Given the description of an element on the screen output the (x, y) to click on. 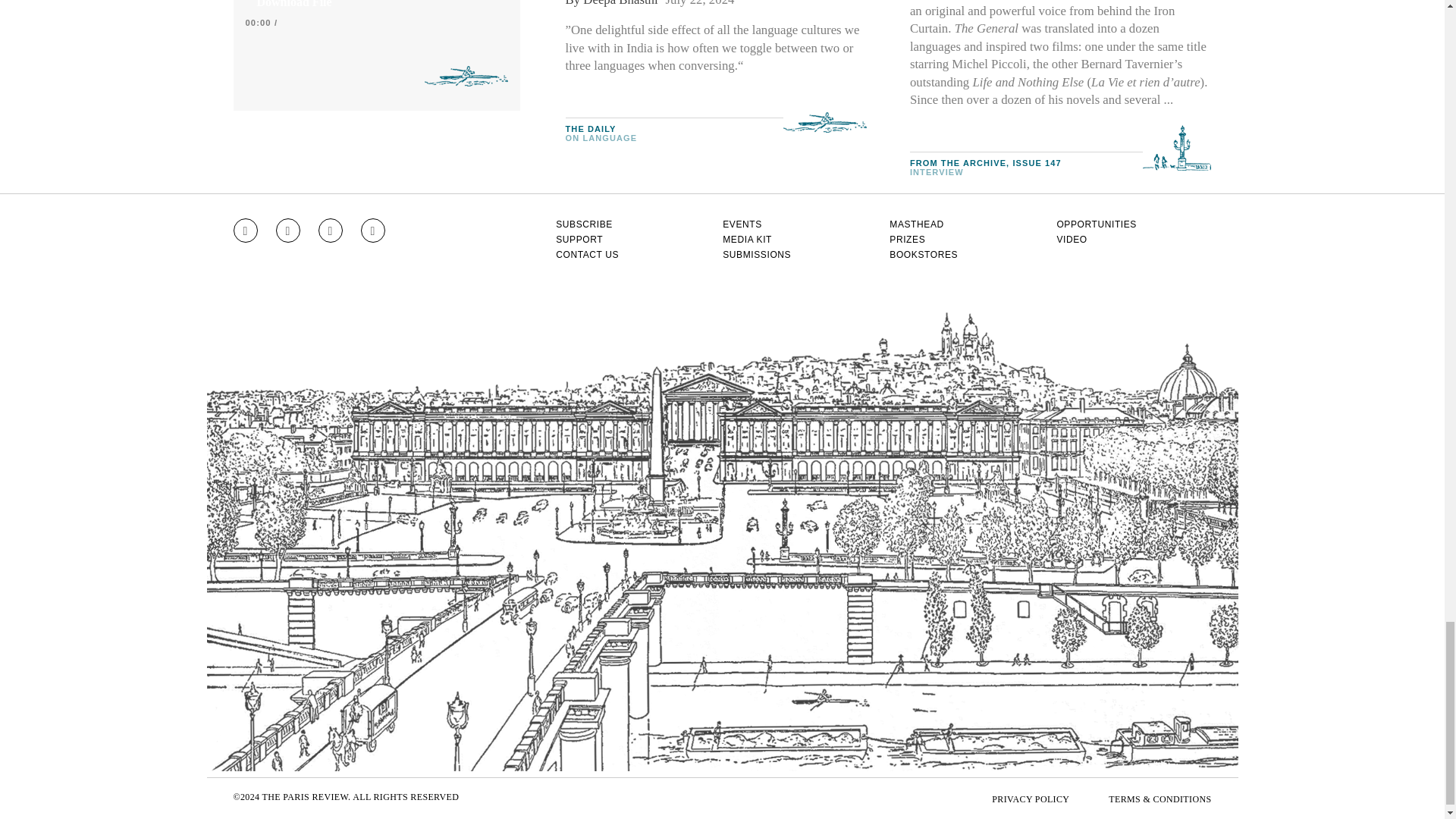
Go to Twitter feed (330, 230)
Go to Facebook page (287, 230)
Go to RSS feed (373, 230)
Go to Instagram feed (244, 230)
